Given the description of an element on the screen output the (x, y) to click on. 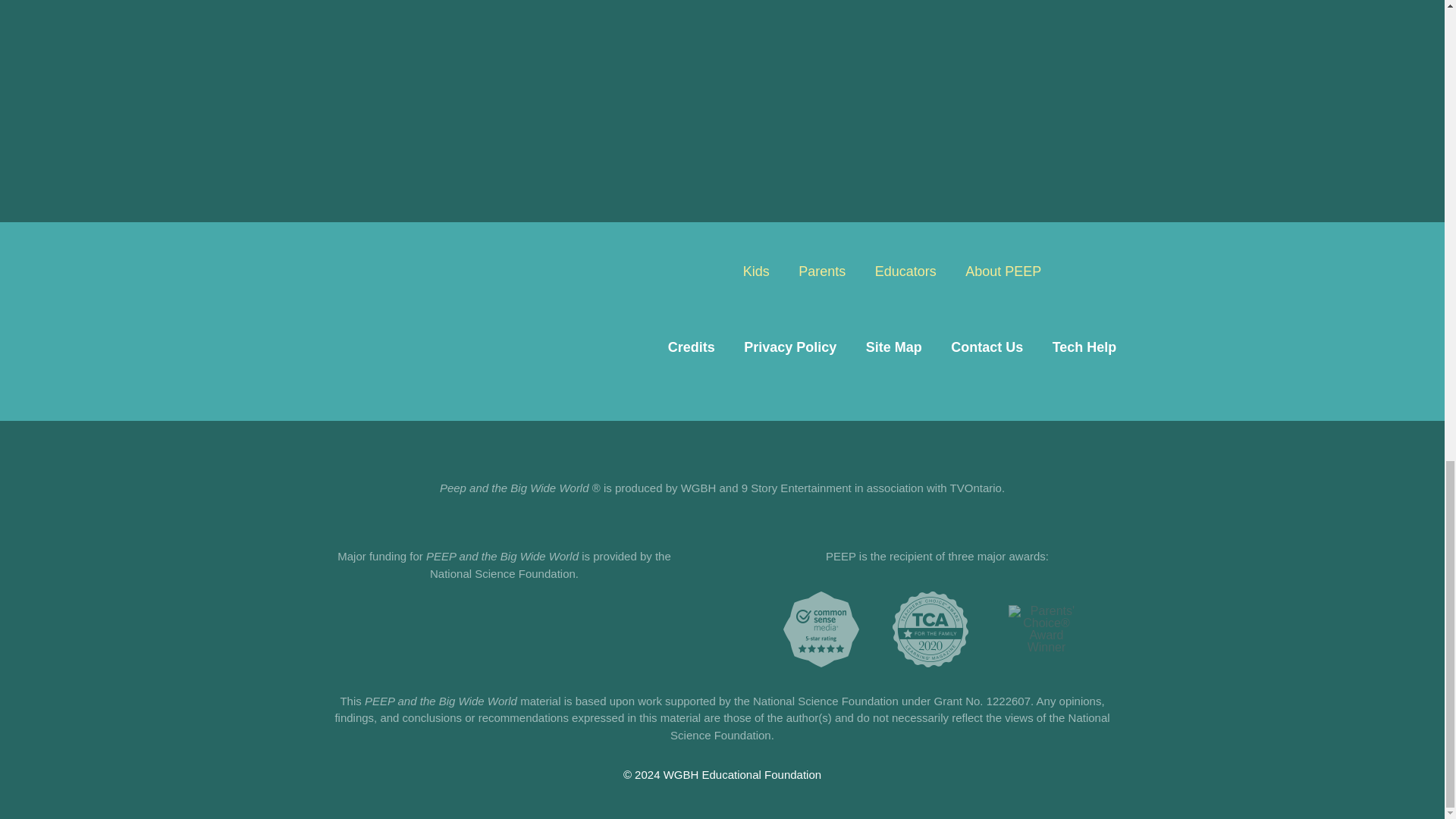
Parents (821, 271)
Privacy Policy (789, 346)
Site Map (893, 346)
About PEEP (1003, 271)
Credits (691, 346)
Contact Us (986, 346)
Tech Help (1084, 346)
Educators (905, 271)
Kids (756, 271)
